Given the description of an element on the screen output the (x, y) to click on. 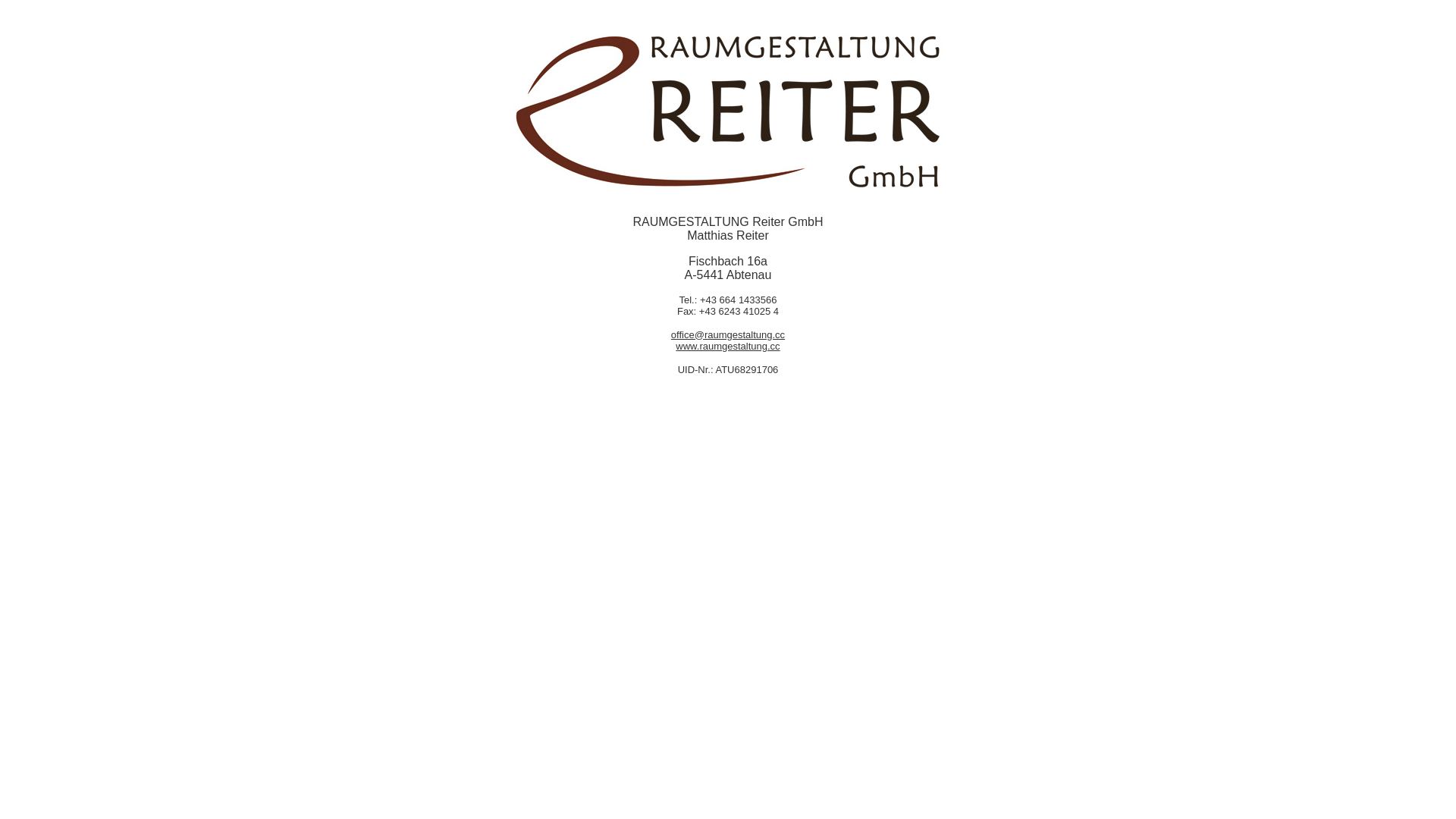
www.raumgestaltung.cc Element type: text (727, 345)
office@raumgestaltung.cc Element type: text (727, 334)
